Given the description of an element on the screen output the (x, y) to click on. 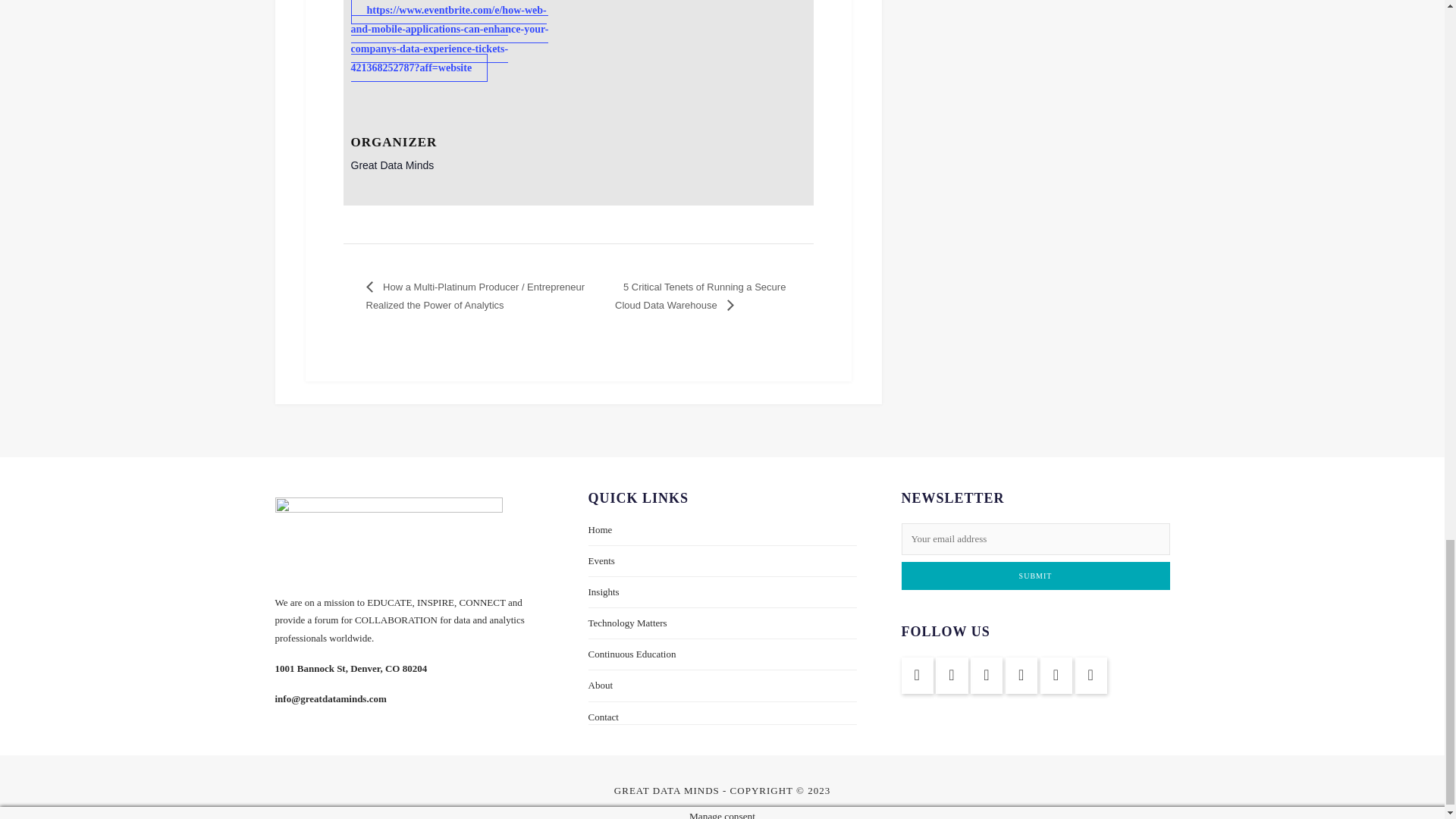
Submit (1035, 575)
Linkedin (917, 674)
Youtube (987, 674)
linkedin (952, 674)
